Given the description of an element on the screen output the (x, y) to click on. 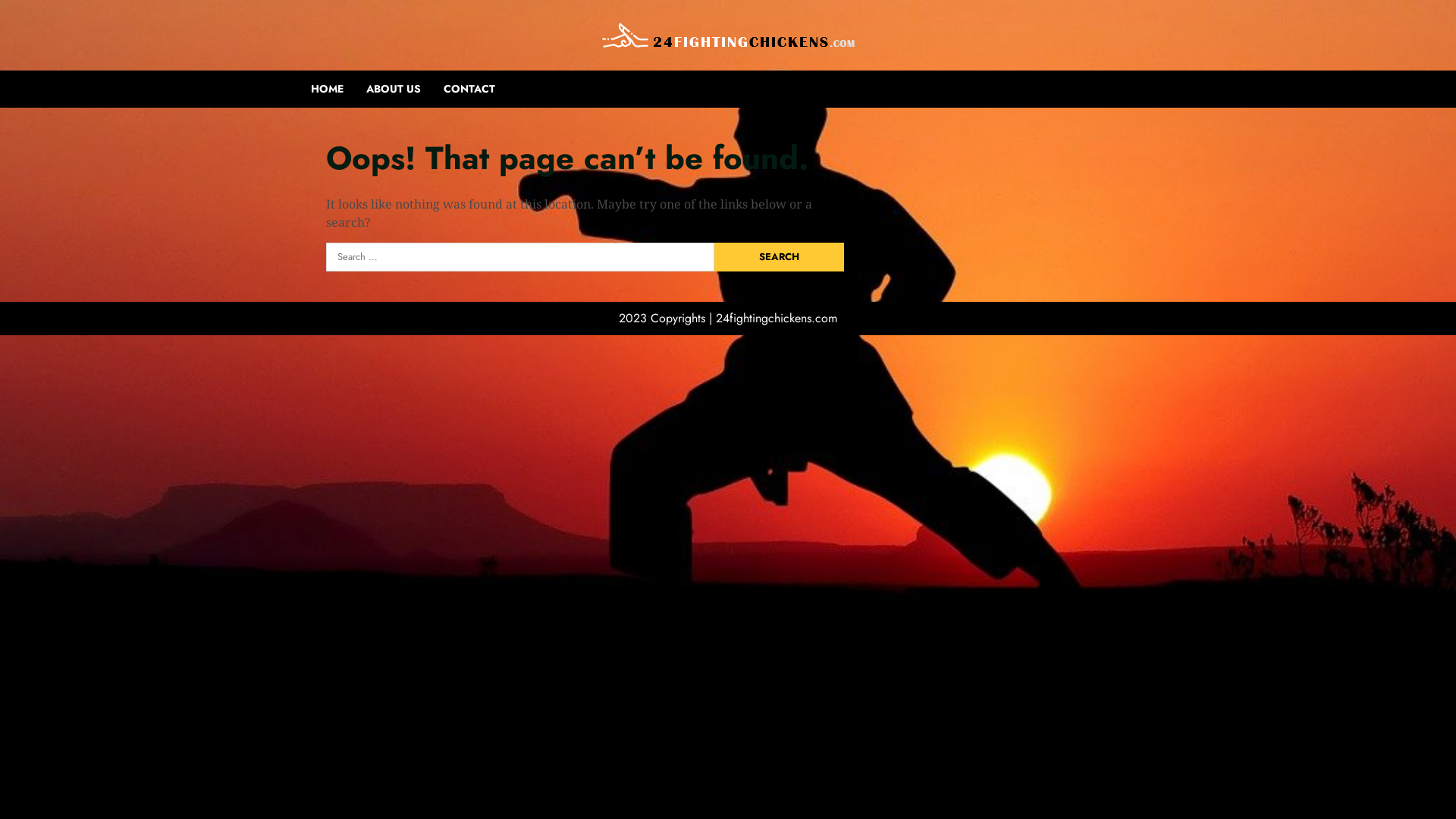
CONTACT Element type: text (480, 88)
24fightingchickens.com Element type: text (776, 317)
Search Element type: text (1098, 114)
Search Element type: text (779, 256)
HOME Element type: text (338, 88)
ABOUT US Element type: text (404, 88)
